Given the description of an element on the screen output the (x, y) to click on. 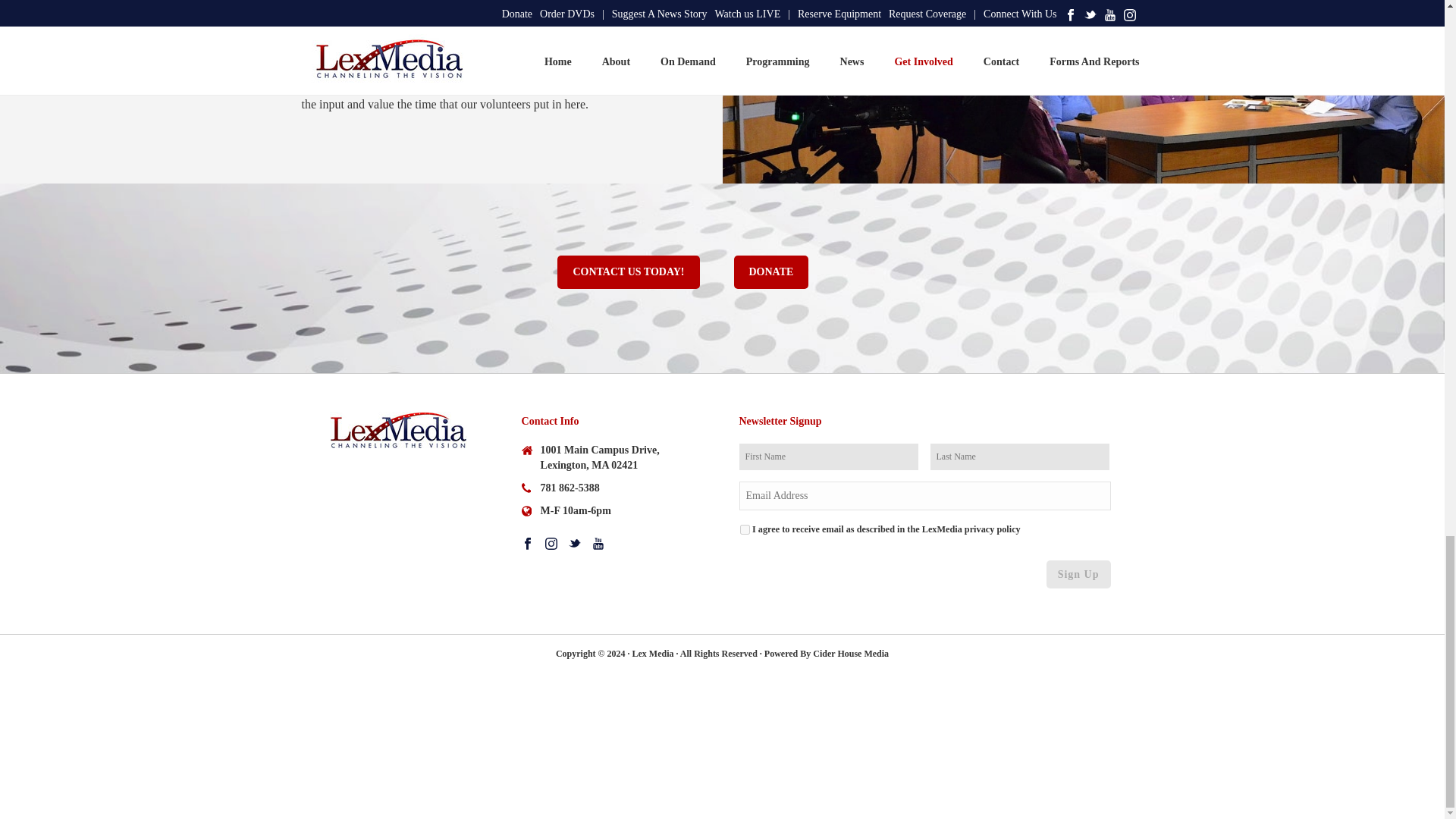
CONTACT US TODAY! (627, 272)
Sign Up (1078, 574)
DONATE (771, 272)
